Given the description of an element on the screen output the (x, y) to click on. 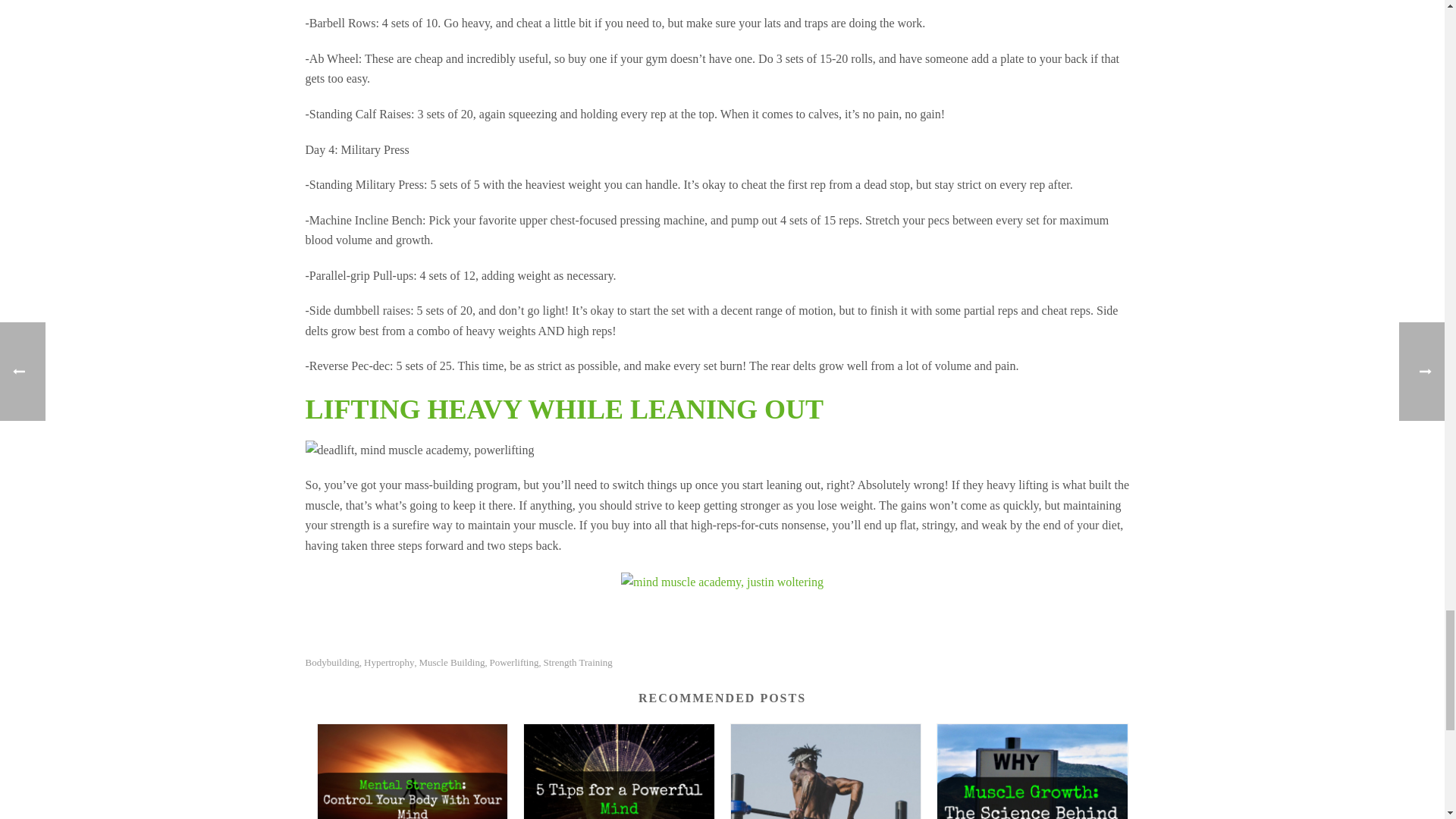
Build Huge Arms in 4 Weeks! (825, 771)
Hypertrophy (388, 662)
Muscle Growth: The Scientific Secrets to Building Mass Fast (1031, 771)
Making Your Body Work for YOU: 5 Tips for a Powerful Mind! (619, 771)
Bodybuilding (331, 662)
